Given the description of an element on the screen output the (x, y) to click on. 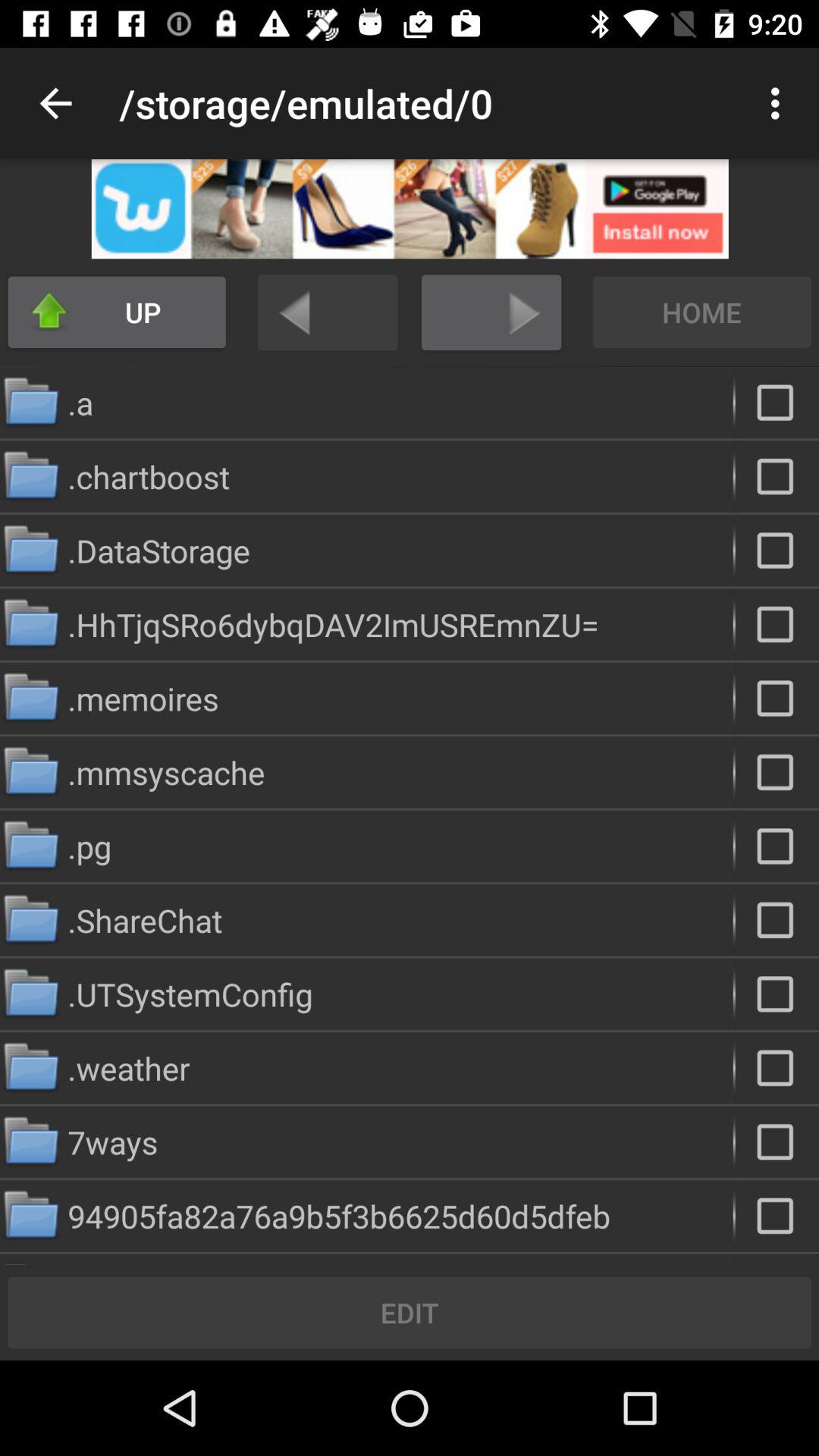
select the folder (777, 1067)
